Given the description of an element on the screen output the (x, y) to click on. 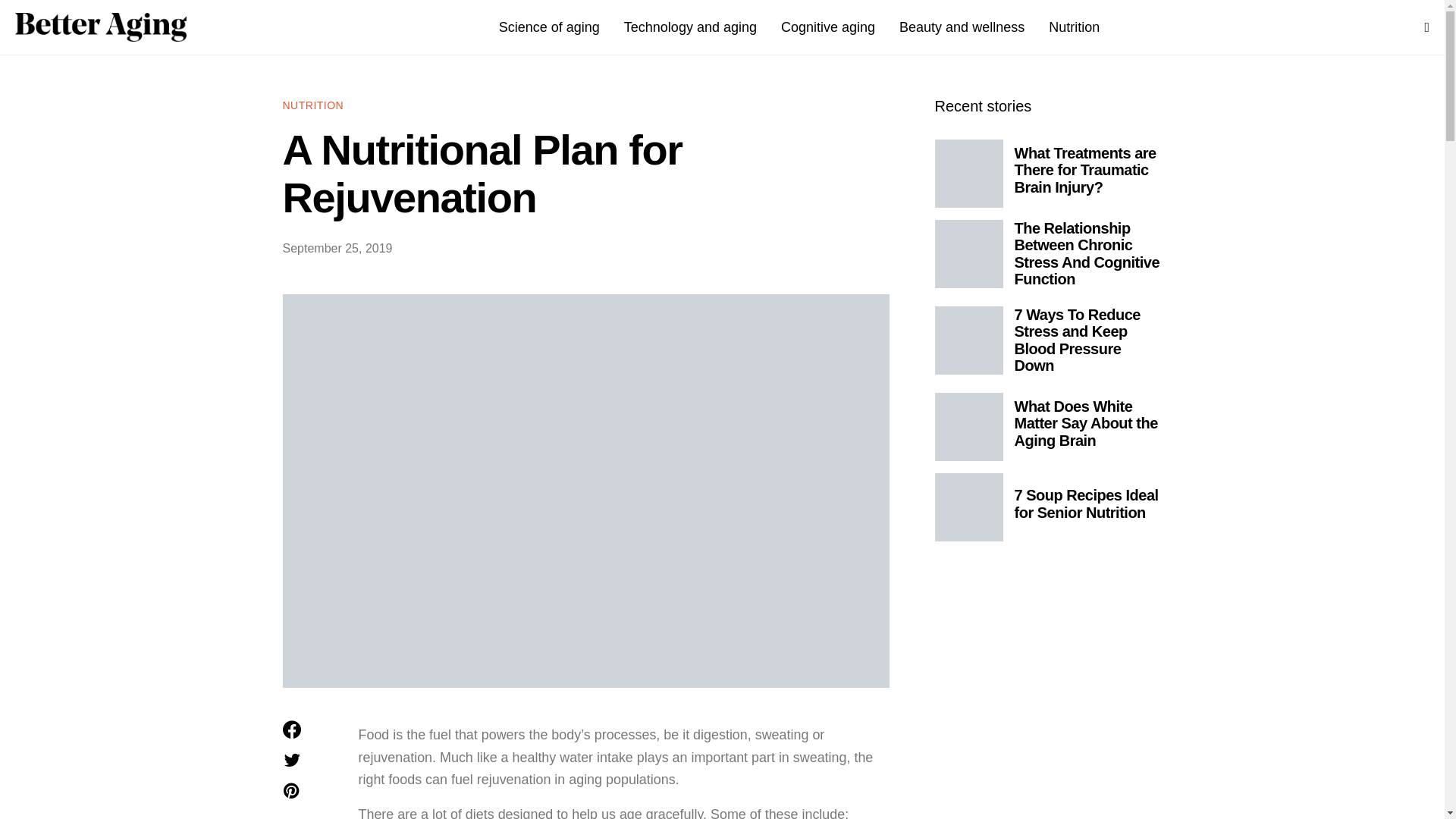
7 Ways To Reduce Stress and Keep Blood Pressure Down (1077, 340)
What Treatments are There for Traumatic Brain Injury? (1085, 169)
Cognitive aging (827, 27)
Nutrition (1073, 27)
Science of aging (549, 27)
Technology and aging (690, 27)
Beauty and wellness (962, 27)
September 25, 2019 (336, 247)
NUTRITION (312, 105)
